Given the description of an element on the screen output the (x, y) to click on. 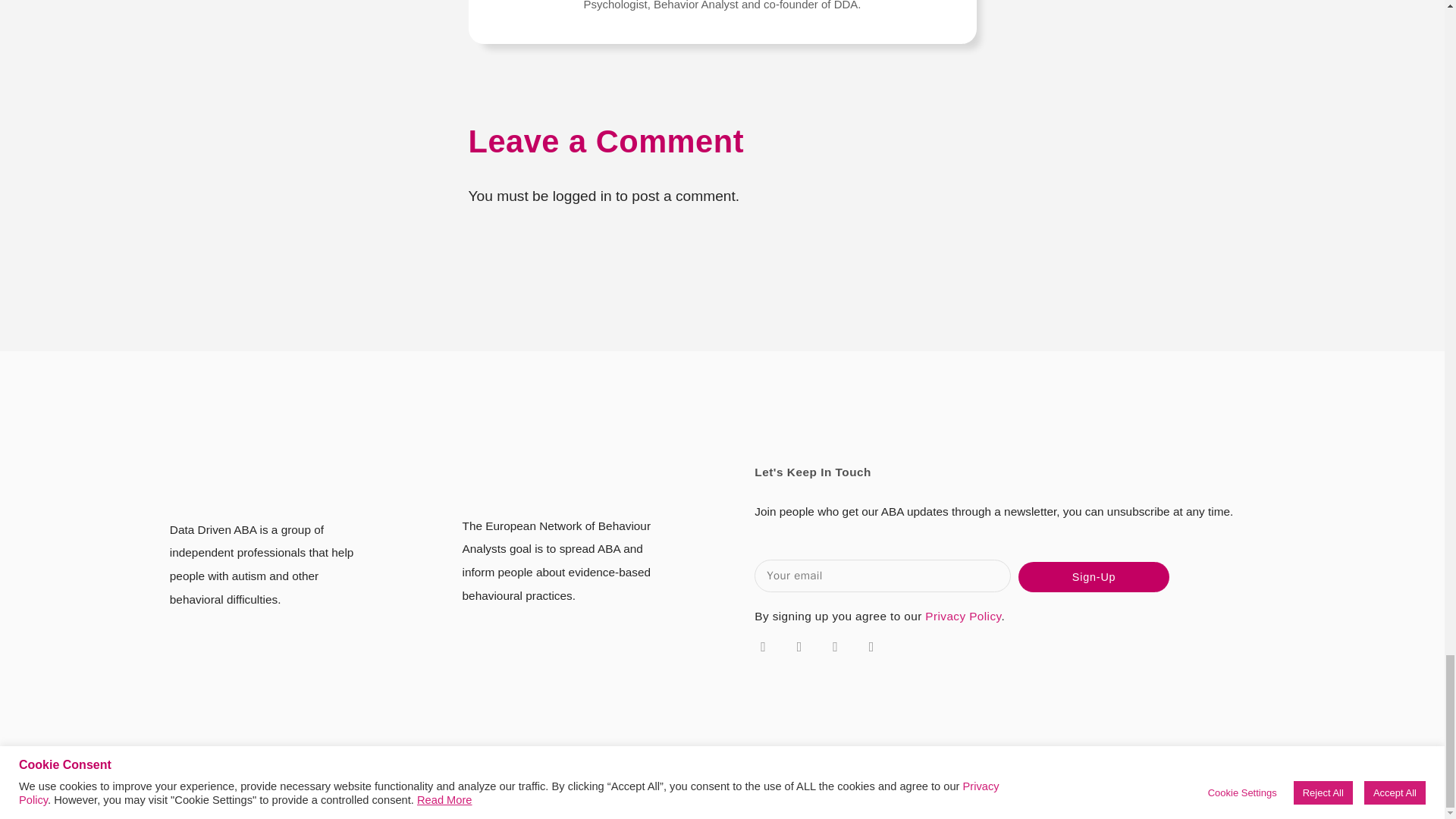
Sign-Up (1093, 576)
Privacy Policy (962, 615)
